Given the description of an element on the screen output the (x, y) to click on. 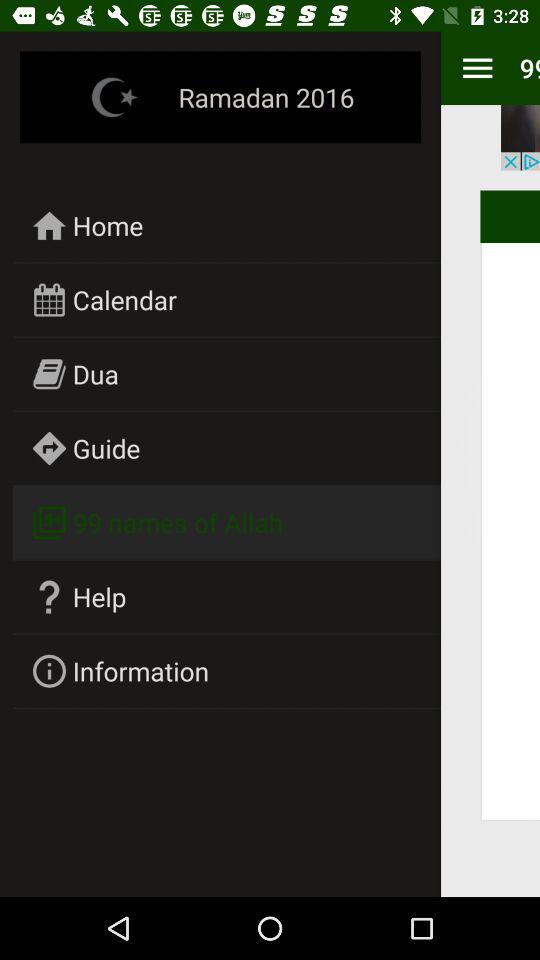
flip to the information (141, 670)
